Given the description of an element on the screen output the (x, y) to click on. 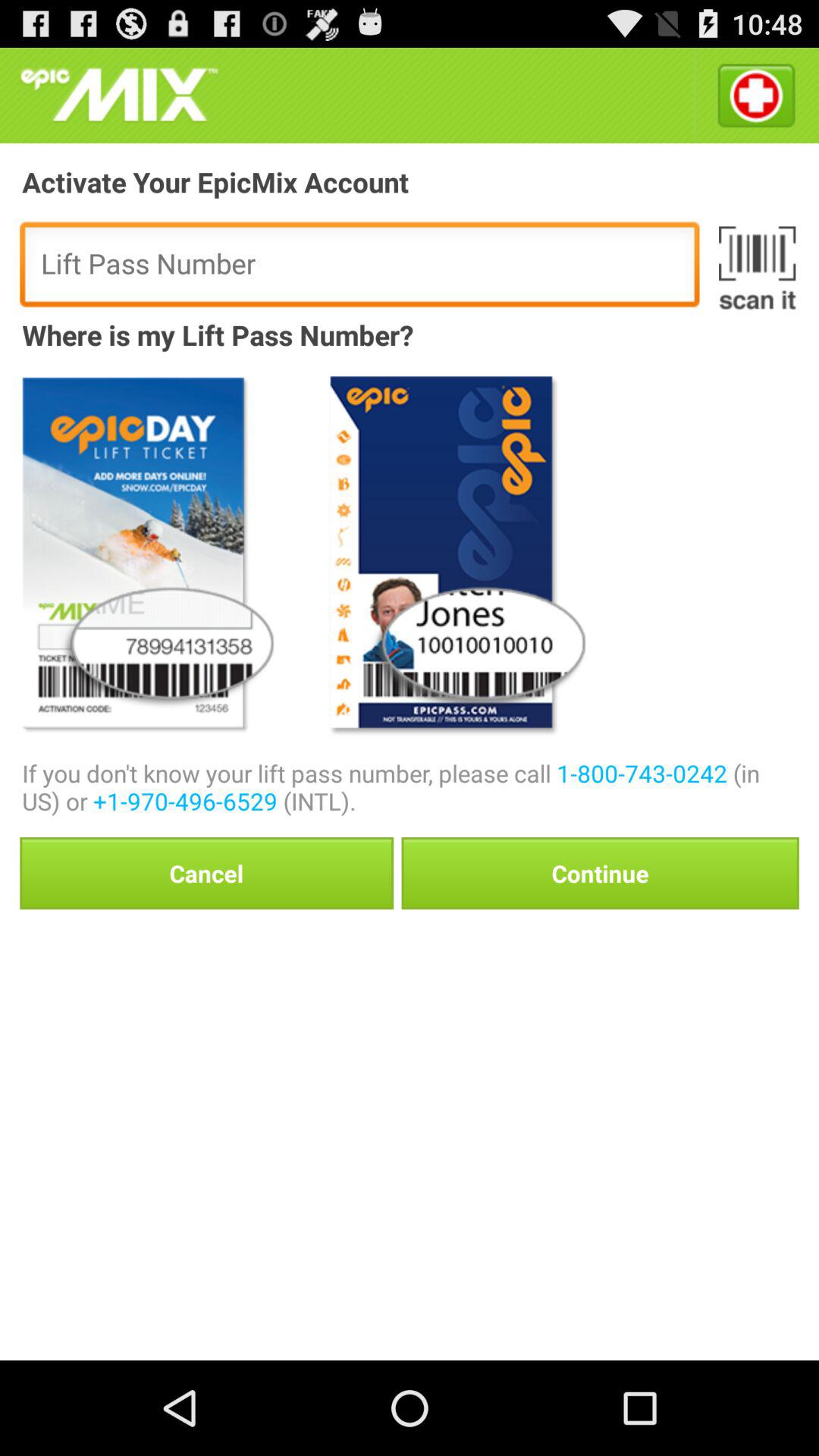
turn off icon at the top left corner (118, 95)
